Given the description of an element on the screen output the (x, y) to click on. 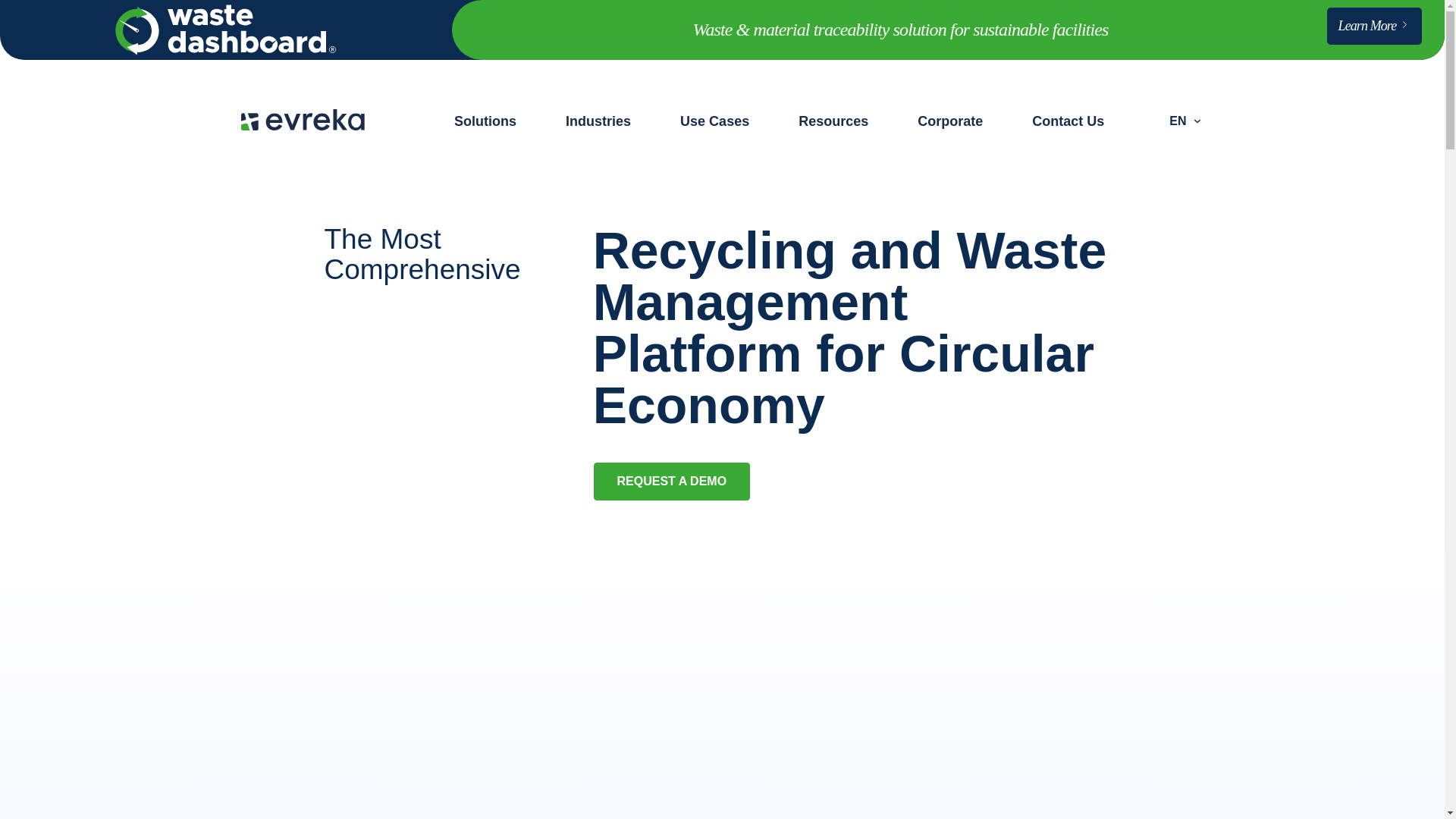
Industries (598, 120)
Use Cases (714, 120)
Learn More (1374, 26)
Learn More (1374, 29)
Solutions (485, 120)
Corporate (949, 120)
Contact Us (1067, 120)
REQUEST A DEMO (670, 481)
Resources (832, 120)
